Given the description of an element on the screen output the (x, y) to click on. 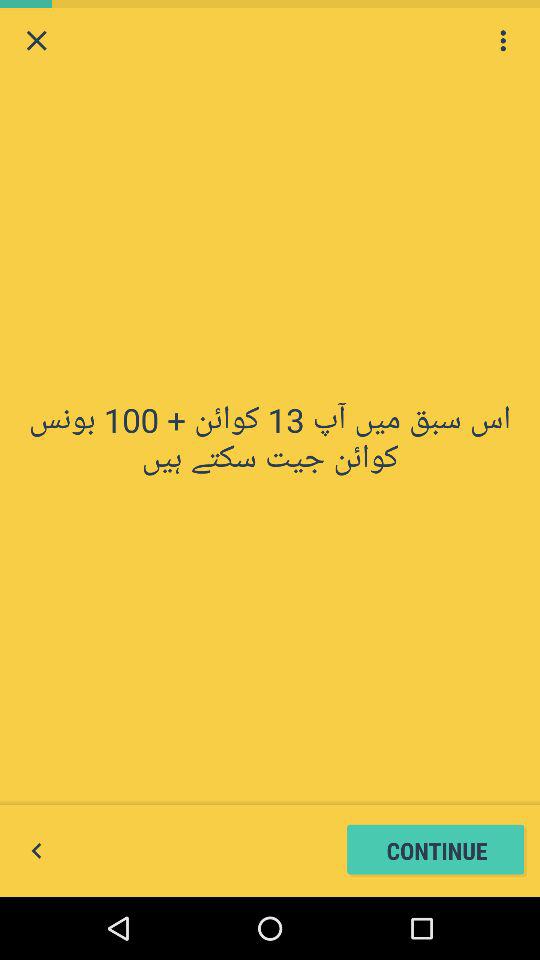
close window (36, 40)
